Given the description of an element on the screen output the (x, y) to click on. 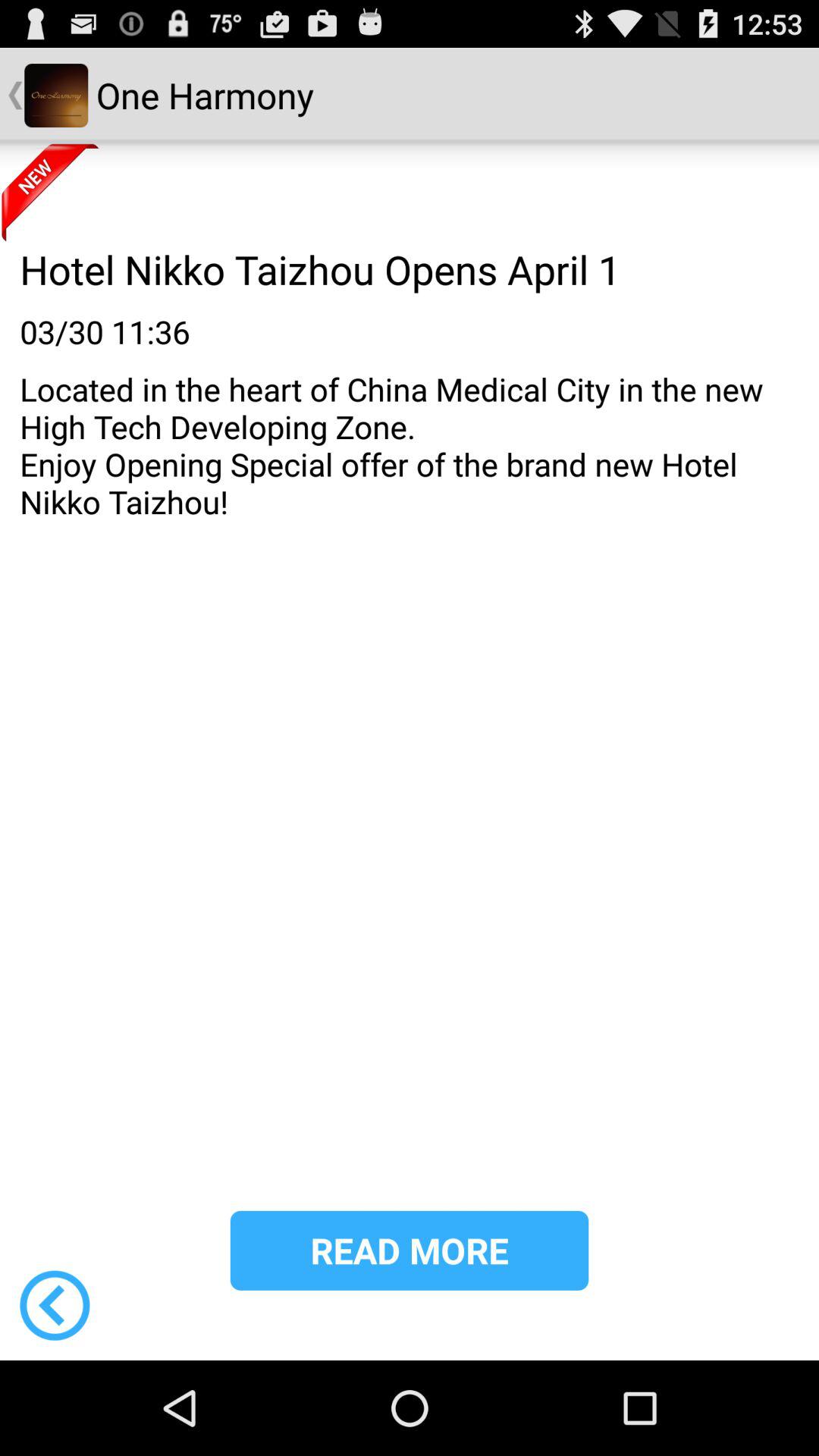
select icon to the left of read more (54, 1305)
